Given the description of an element on the screen output the (x, y) to click on. 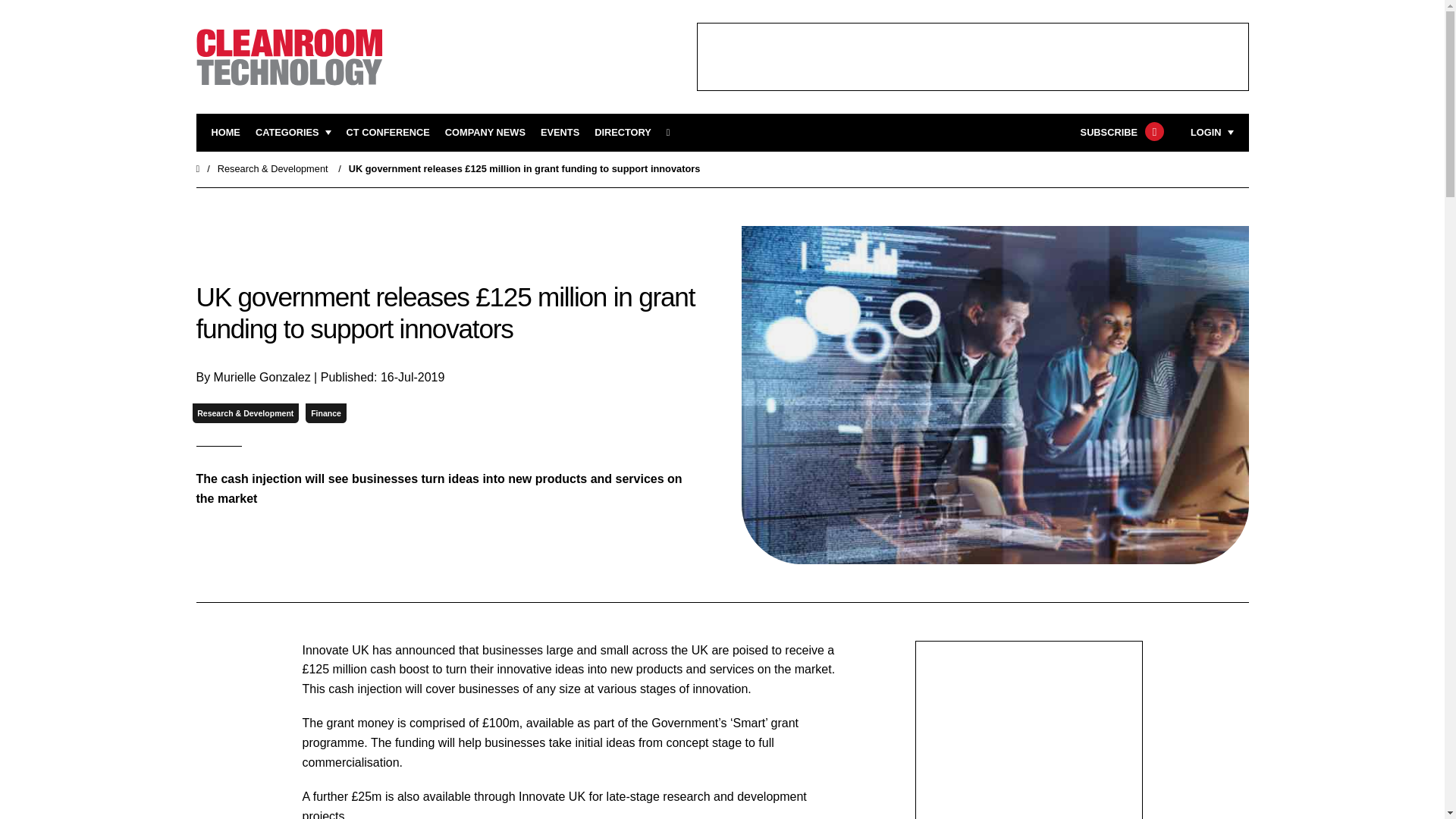
DIRECTORY (622, 133)
HOME (225, 133)
Cleanroom Technology (387, 133)
SEARCH (672, 133)
SUBSCRIBE (1120, 133)
LOGIN (1212, 133)
Directory (622, 133)
Sign In (1134, 321)
EVENTS (559, 133)
COMPANY NEWS (485, 133)
